Given the description of an element on the screen output the (x, y) to click on. 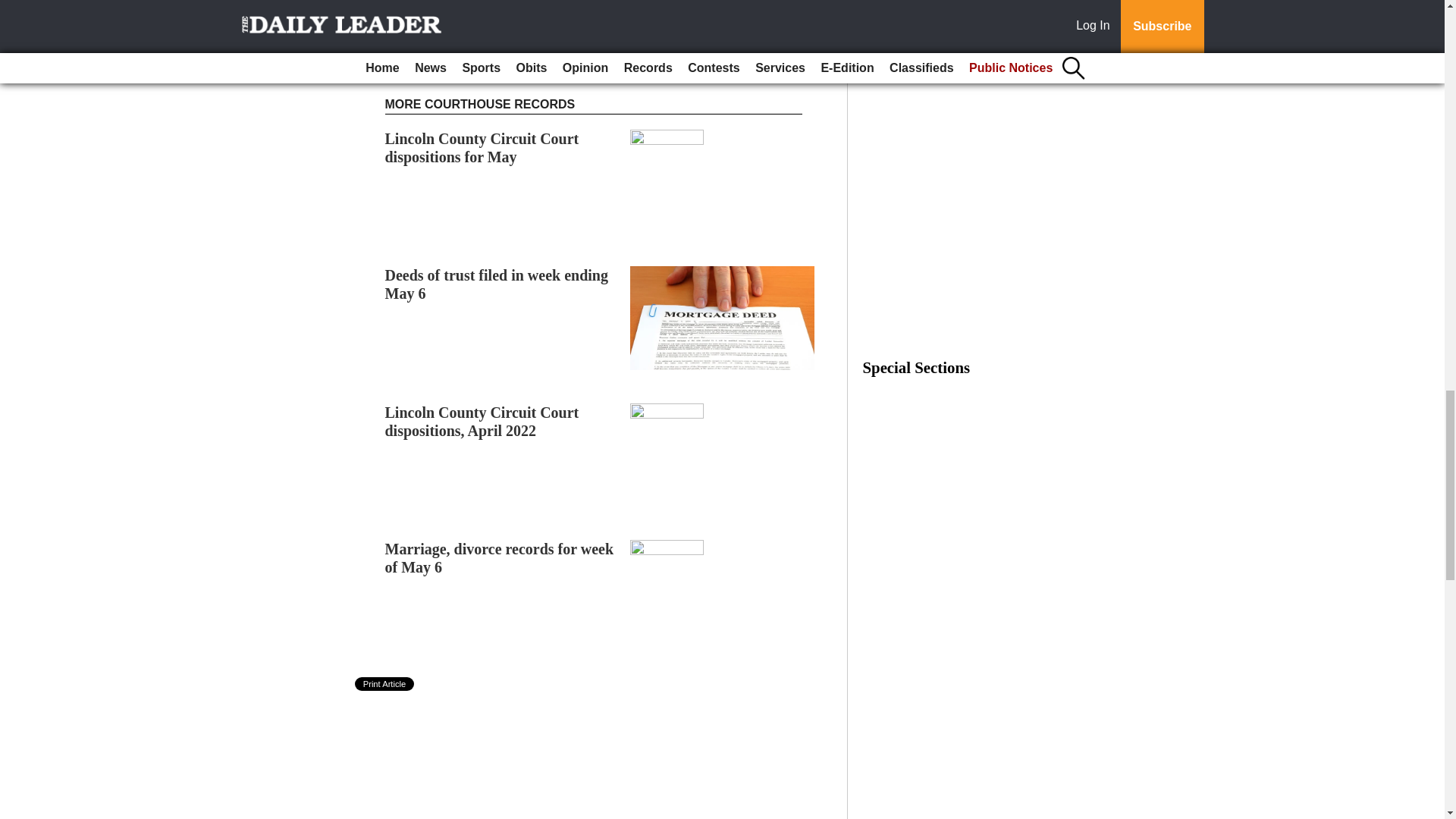
Deeds of trust filed in week ending May 6 (496, 284)
Marriage, divorce records for week of May 6 (499, 557)
Lincoln County Circuit Court dispositions for May (482, 147)
Marriage, divorce records for week of May 6 (499, 557)
Lincoln County Circuit Court dispositions for May (482, 147)
Print Article (384, 684)
Lincoln County Circuit Court dispositions, April 2022 (482, 421)
Lincoln County Circuit Court dispositions, April 2022 (482, 421)
Deeds of trust filed in week ending May 6 (496, 284)
